Given the description of an element on the screen output the (x, y) to click on. 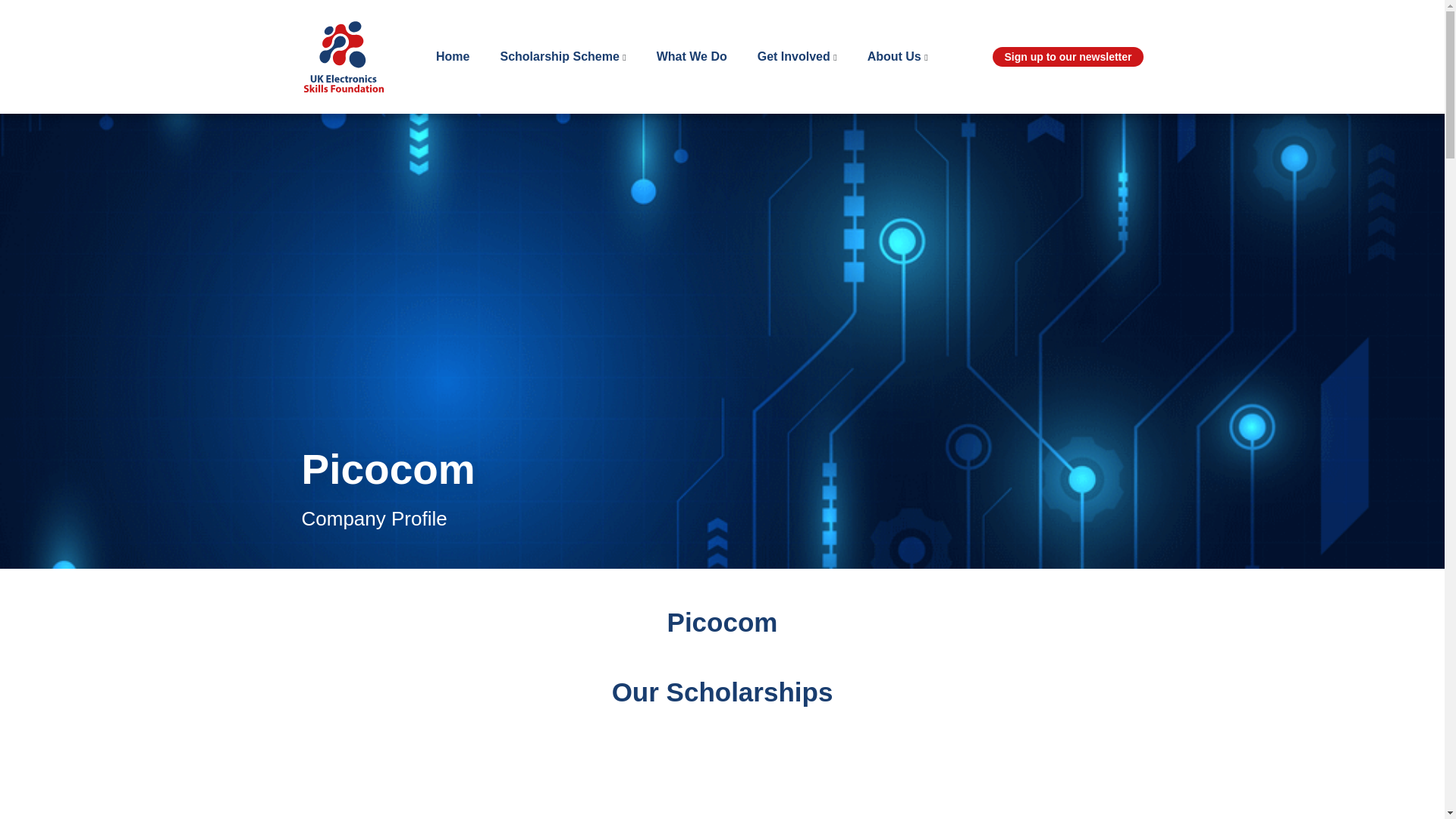
Get Involved (793, 57)
What We Do (691, 57)
Home (451, 57)
Sign up to our newsletter (1067, 56)
Scholarship Scheme (558, 57)
About Us (894, 57)
